Given the description of an element on the screen output the (x, y) to click on. 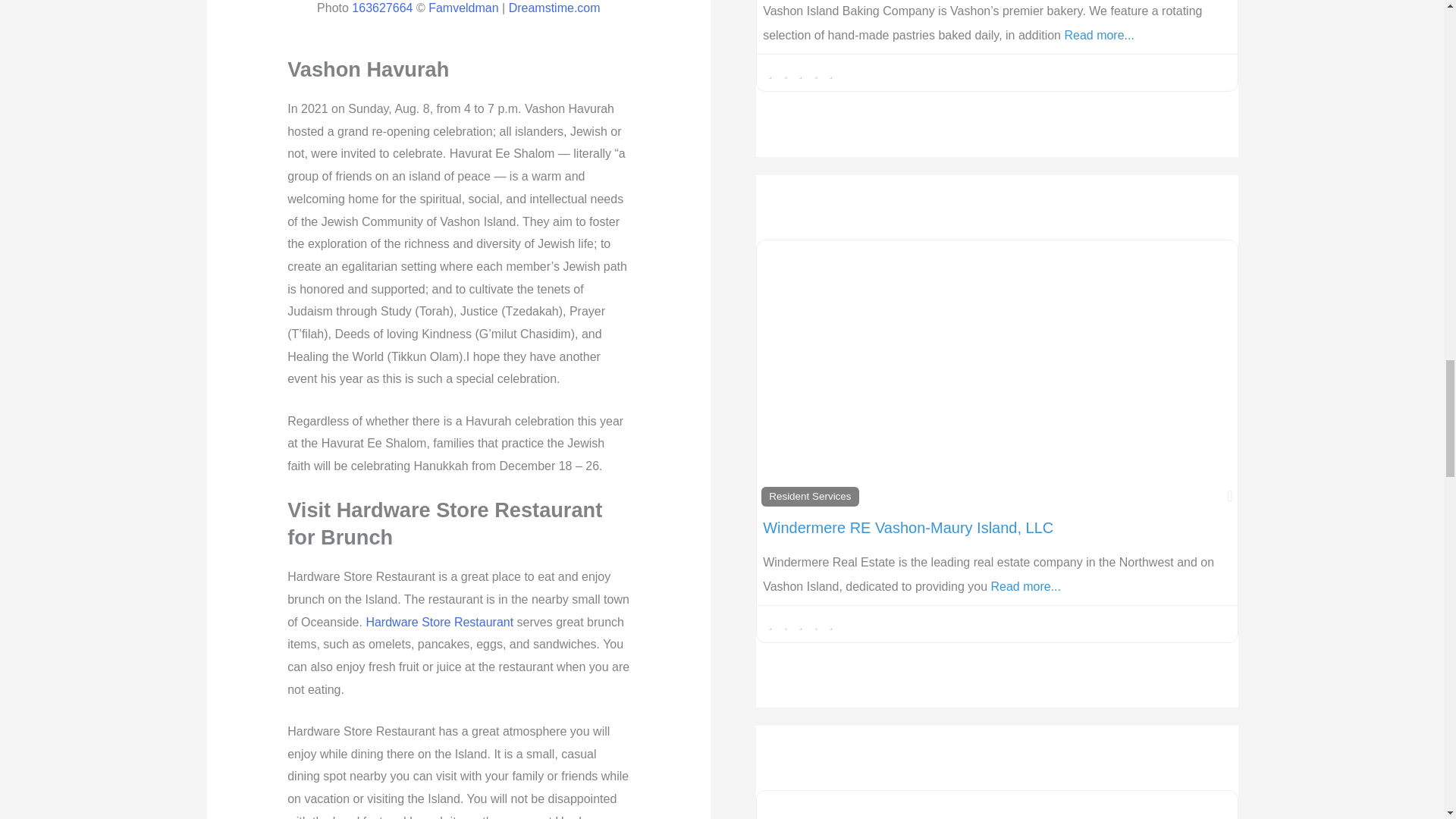
The Hardware Store Restaurant (439, 621)
